Given the description of an element on the screen output the (x, y) to click on. 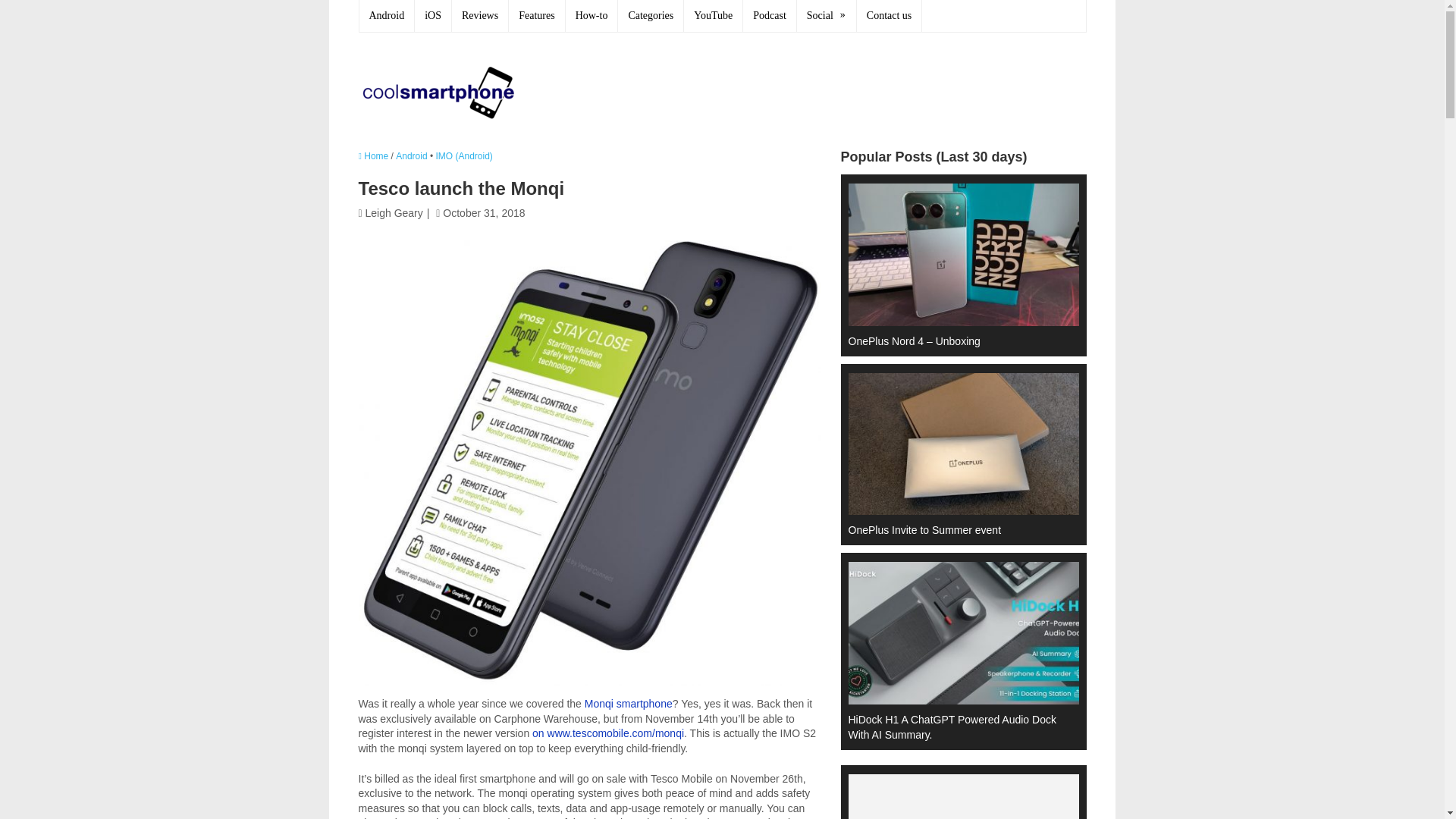
Posts by Leigh Geary (394, 213)
OnePlus Invite to Summer event (955, 453)
Android (411, 155)
Monqi smartphone (628, 703)
Podcast (769, 15)
Categories (650, 15)
HiDock H1 A ChatGPT Powered Audio Dock With AI Summary. (955, 649)
OnePlus Invite to Summer event (955, 453)
HiDock H1 A ChatGPT Powered Audio Dock With AI Summary. (955, 649)
Leigh Geary (394, 213)
Social (826, 15)
How-to (592, 15)
Advertisement (810, 89)
Features (536, 15)
